Given the description of an element on the screen output the (x, y) to click on. 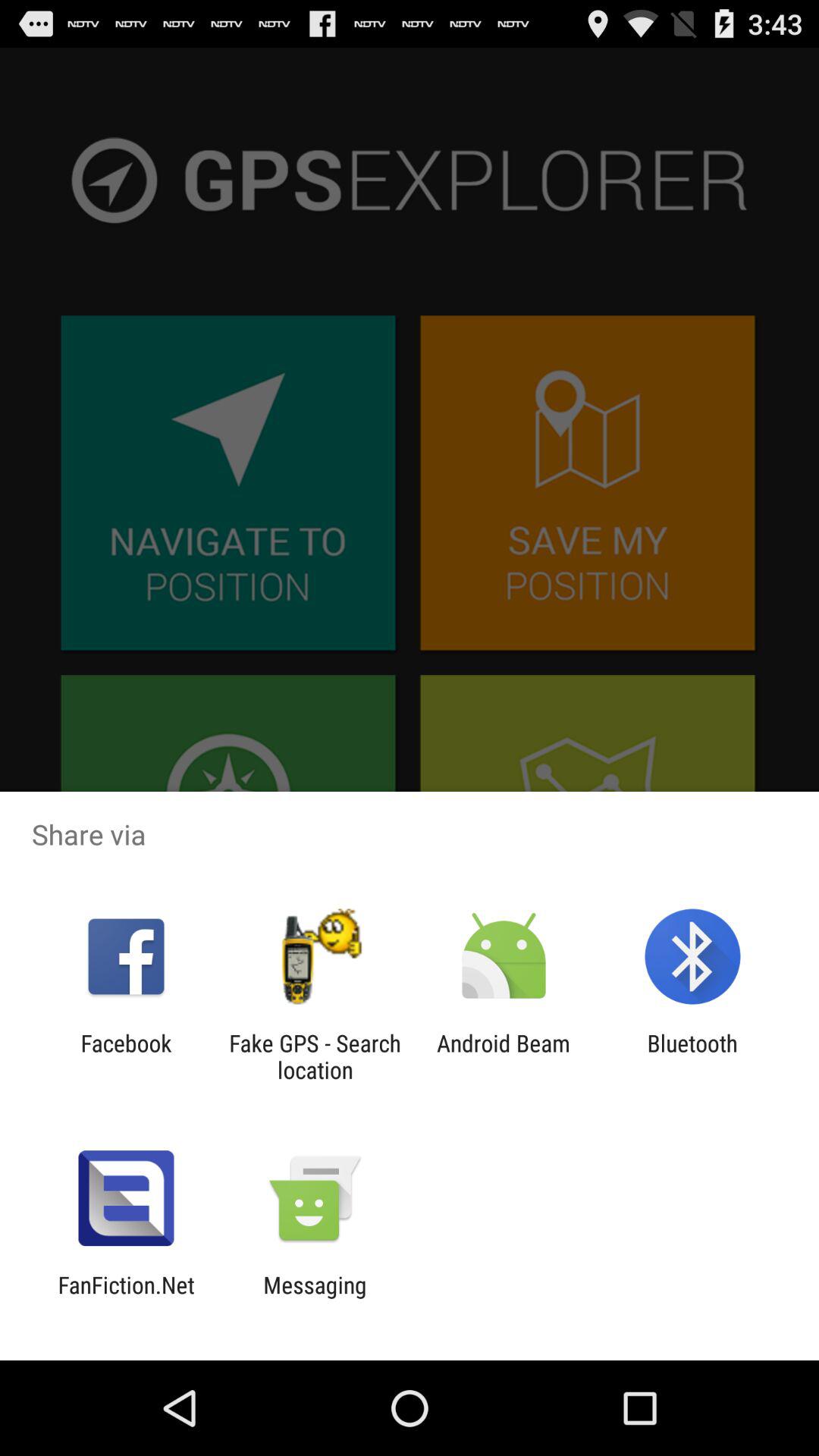
click the icon to the right of the android beam item (692, 1056)
